Given the description of an element on the screen output the (x, y) to click on. 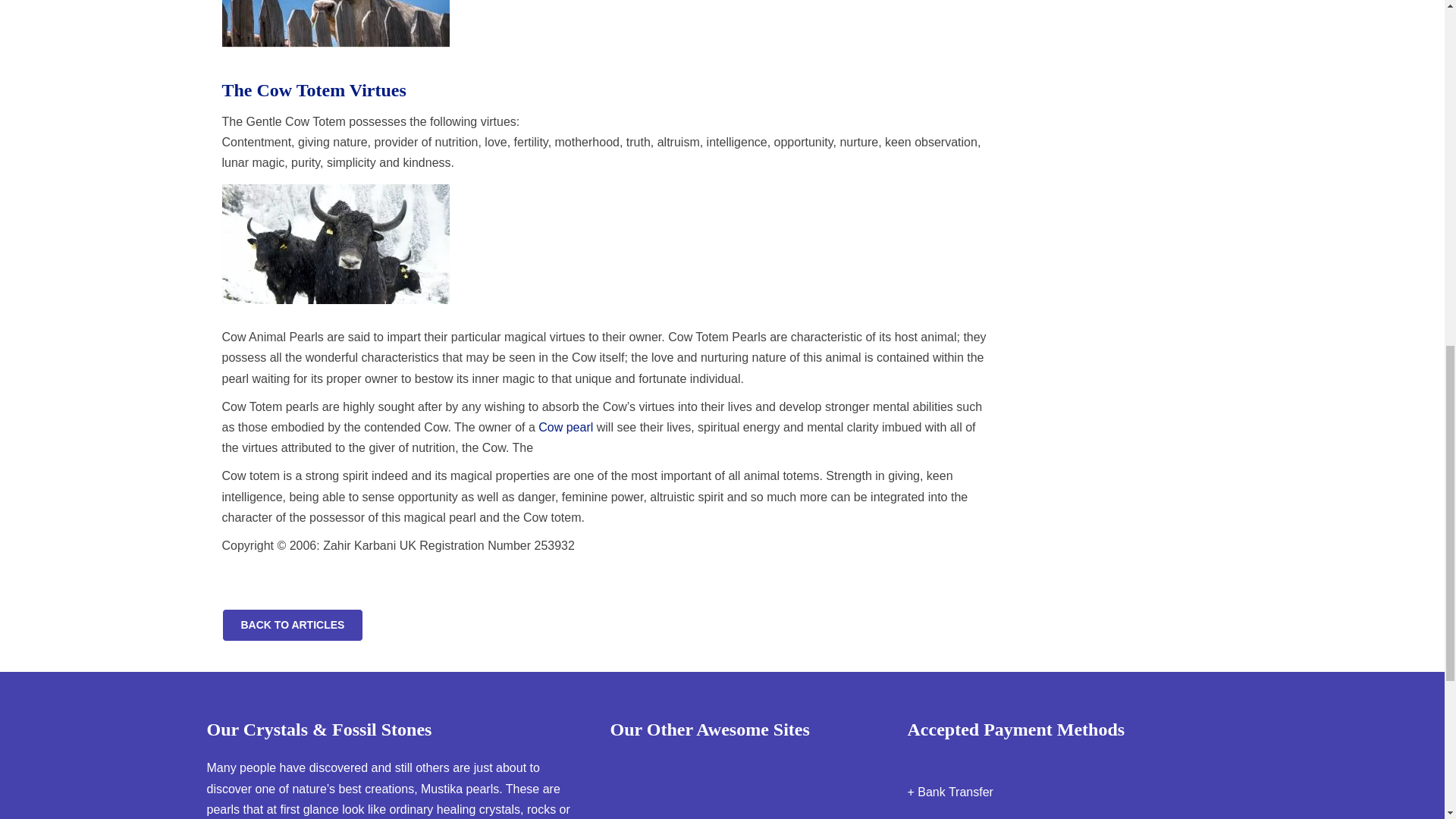
payment-methods250 (994, 762)
BACK TO ARTICLES (291, 625)
mystical logo-small-white50 (707, 776)
Cow pearl (565, 427)
